Given the description of an element on the screen output the (x, y) to click on. 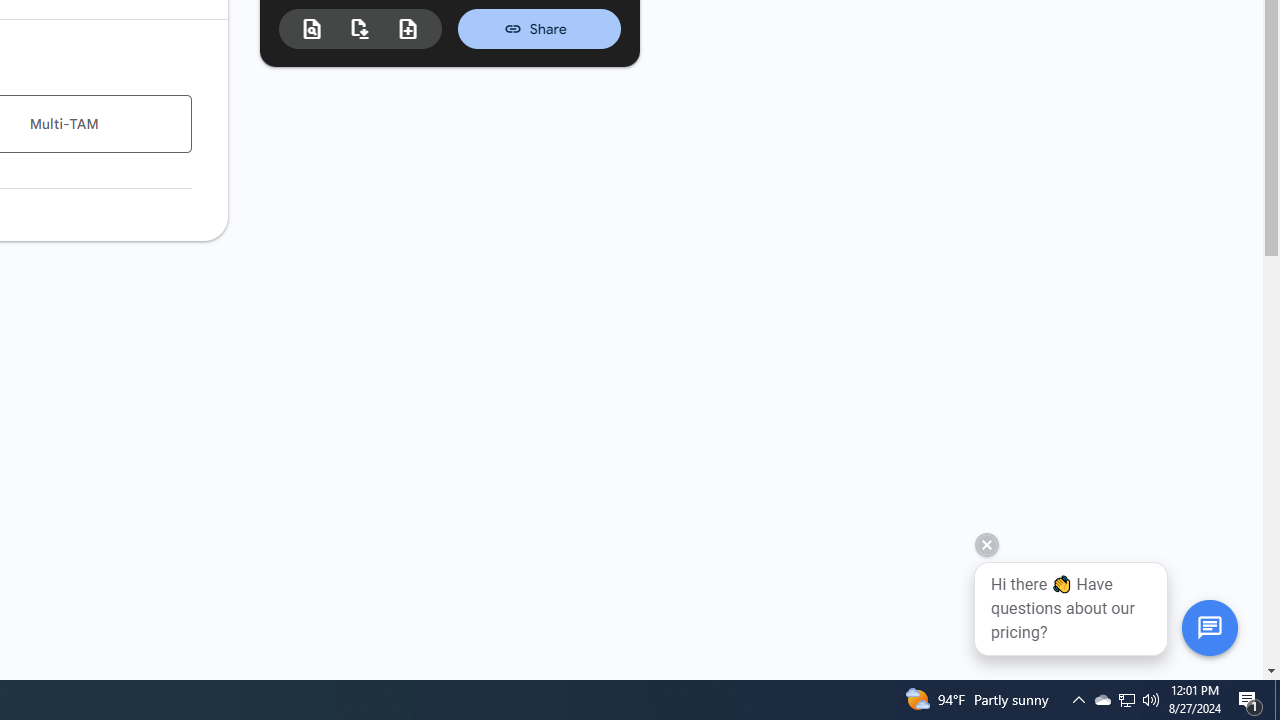
New estimate from duplicate (408, 29)
Button to activate chat (1209, 627)
Open detailed view (312, 29)
Download estimate as .csv (360, 28)
Open Share Estimate dialog (539, 28)
